Given the description of an element on the screen output the (x, y) to click on. 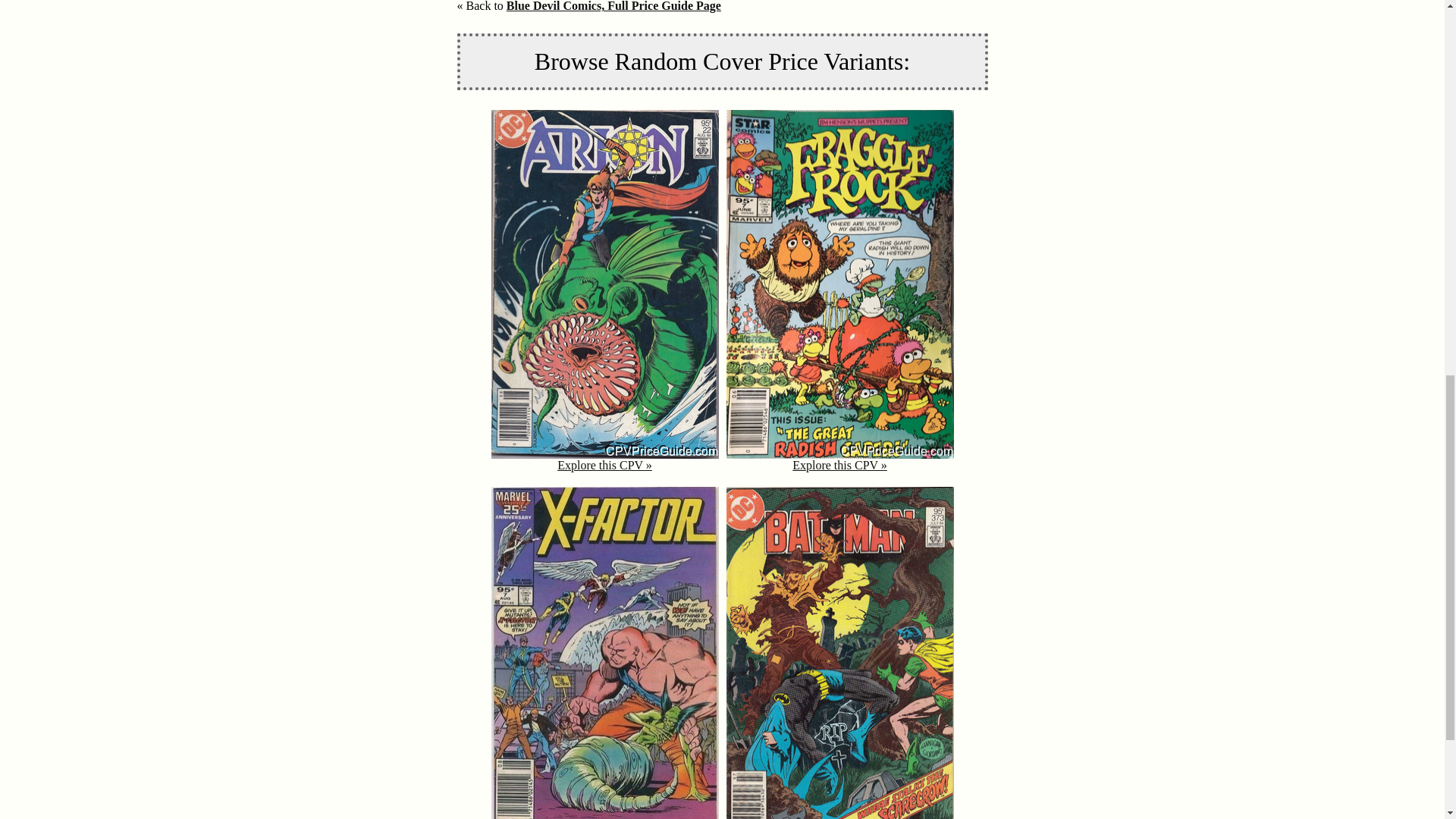
Blue Devil Comics, Full Price Guide Page (613, 6)
